Given the description of an element on the screen output the (x, y) to click on. 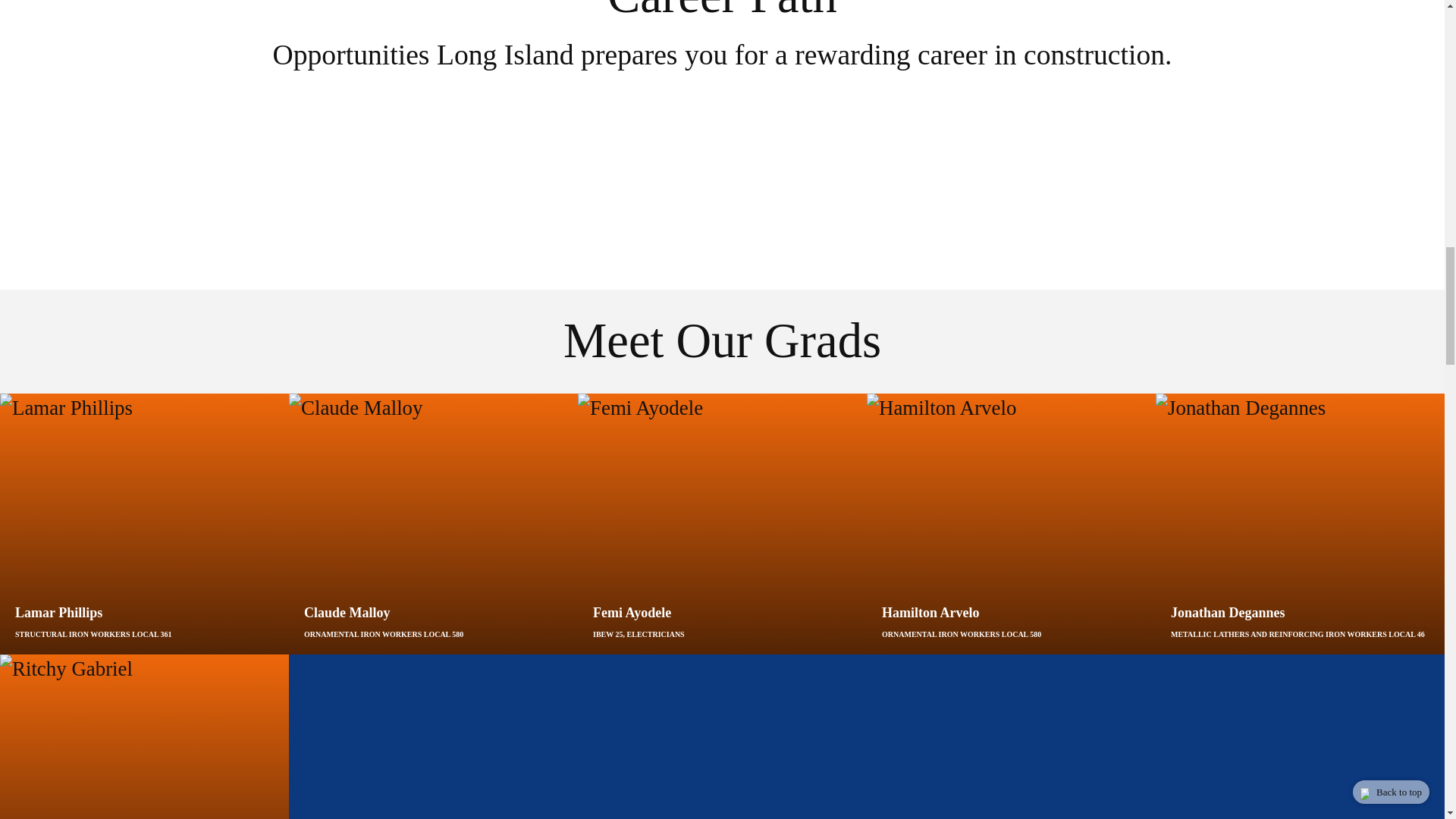
Lamar Phillips (144, 537)
Claude Malloy (433, 537)
Femi Ayodele (722, 537)
Ritchy Gabriel (144, 736)
Hamilton Arvelo (1011, 537)
